Given the description of an element on the screen output the (x, y) to click on. 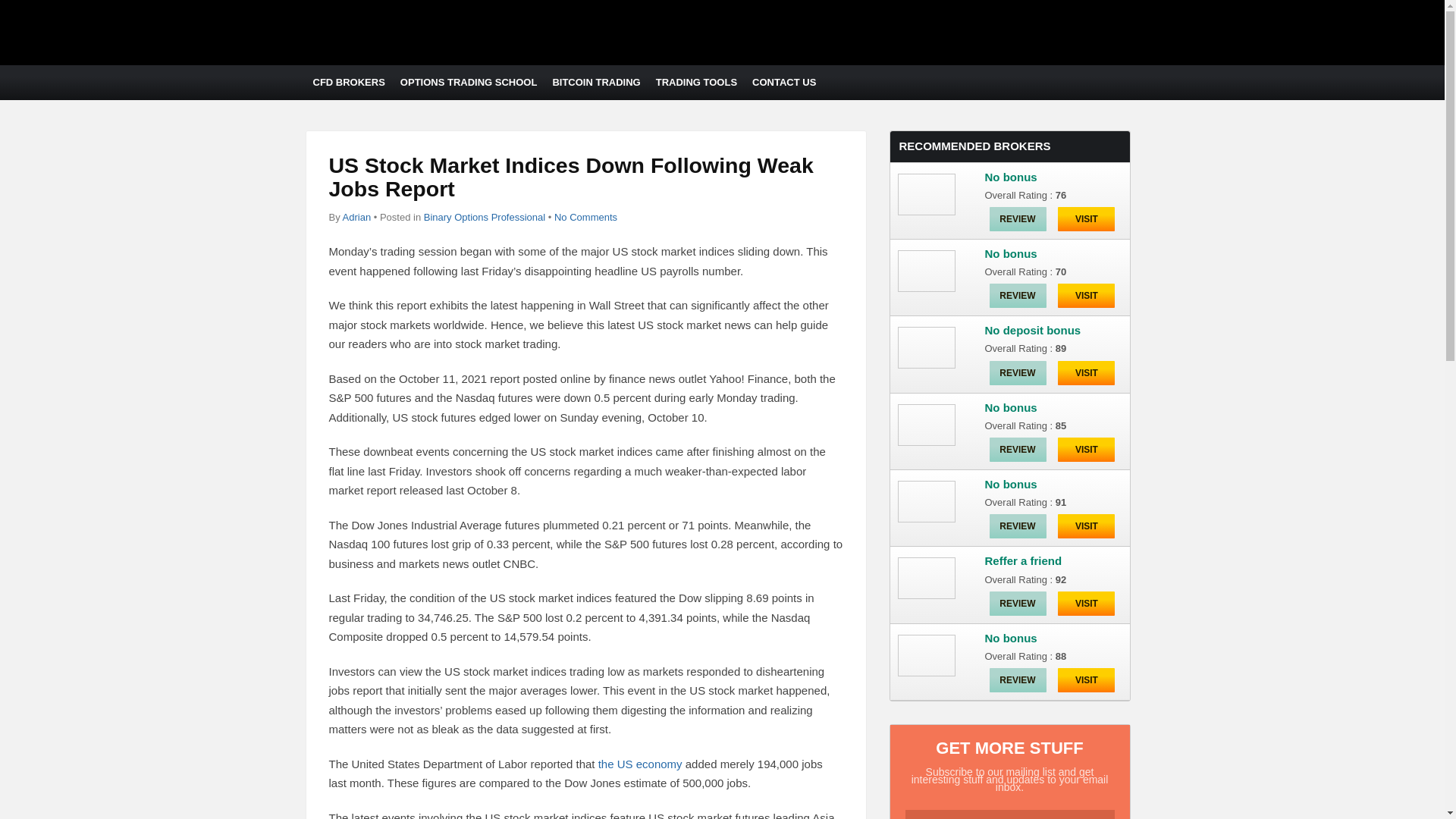
VISIT (1086, 372)
the US economy (640, 763)
VISIT (1086, 218)
BITCOIN TRADING (595, 82)
REVIEW (1016, 218)
Adrian (356, 216)
Posts by Adrian (356, 216)
CFD BROKERS (347, 82)
Enter your email here (1010, 814)
Binary Options Professional (483, 216)
TRADING TOOLS (695, 82)
No Comments (585, 216)
CONTACT US (784, 82)
REVIEW (1016, 295)
REVIEW (1016, 372)
